Given the description of an element on the screen output the (x, y) to click on. 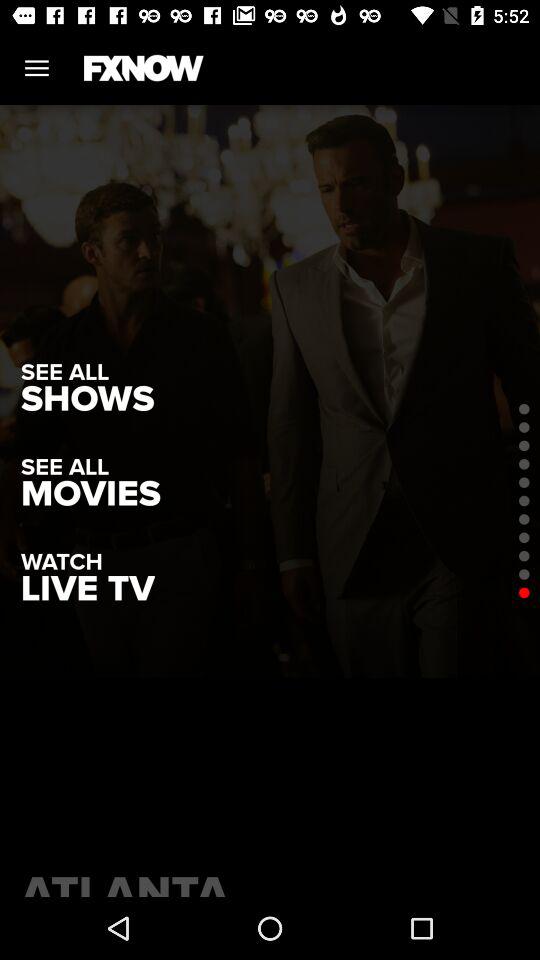
tap item above the watch icon (90, 493)
